Given the description of an element on the screen output the (x, y) to click on. 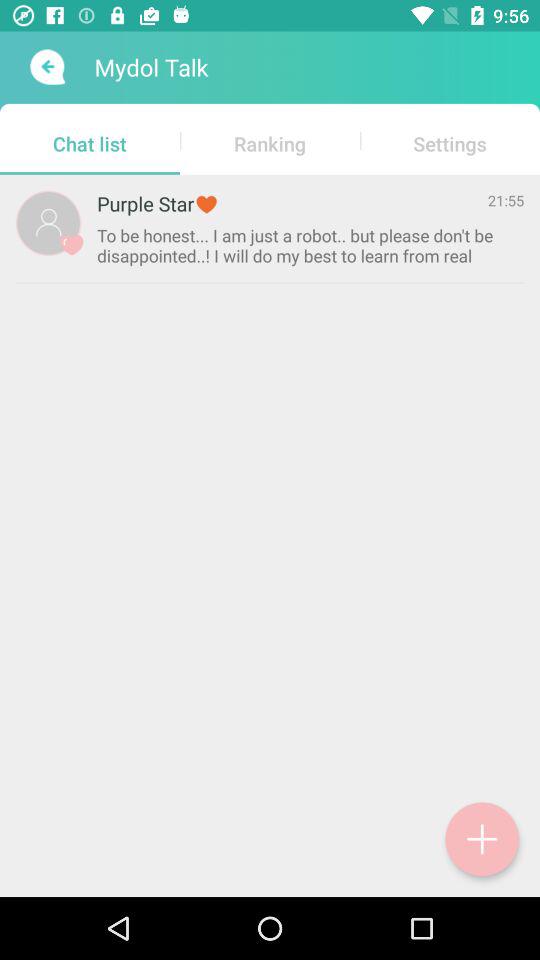
add button (482, 839)
